Given the description of an element on the screen output the (x, y) to click on. 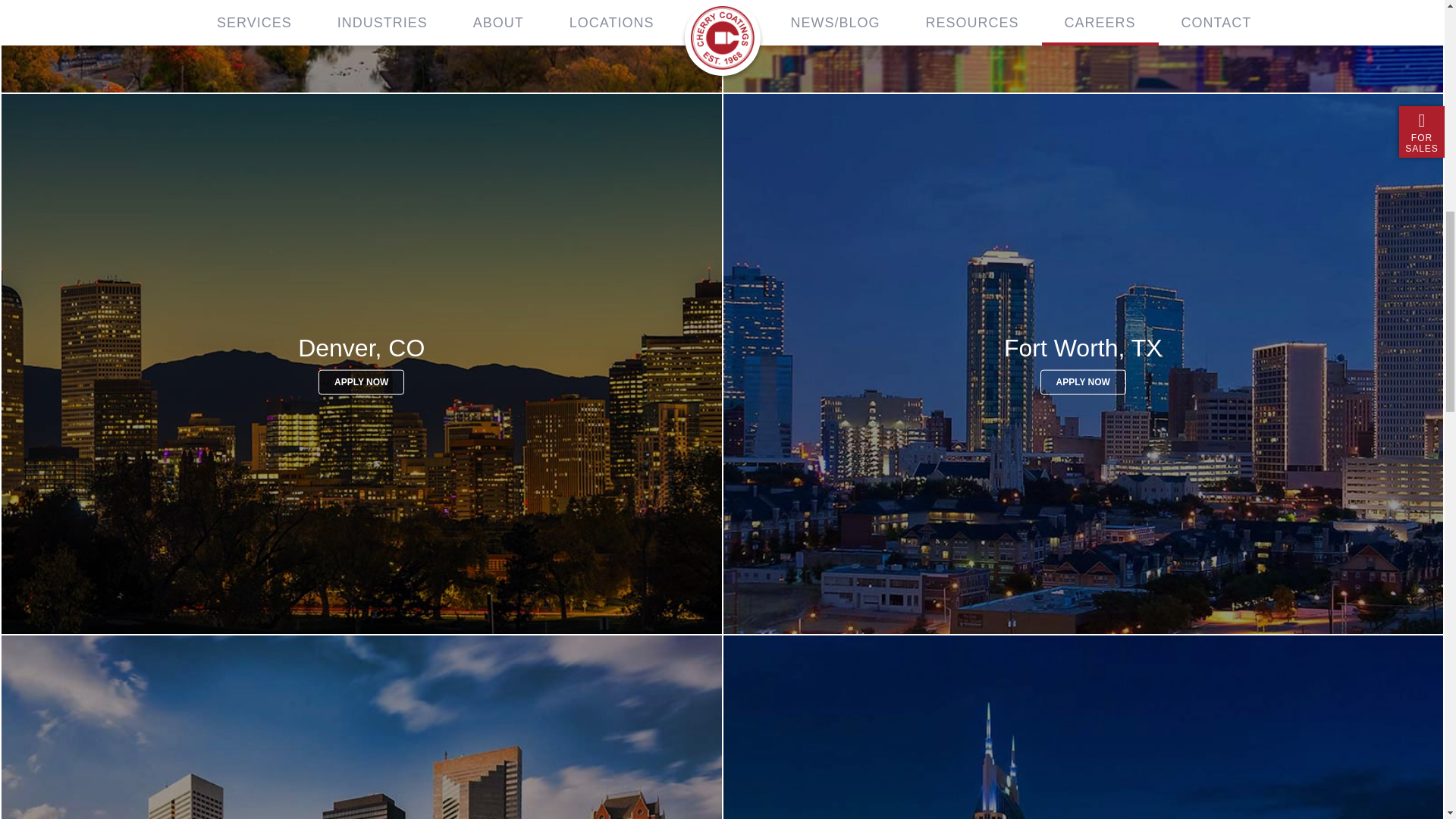
Nashville, TN (1083, 726)
Houston, TX (361, 726)
Dallas, TX (1083, 46)
Austin, TX (361, 46)
